Given the description of an element on the screen output the (x, y) to click on. 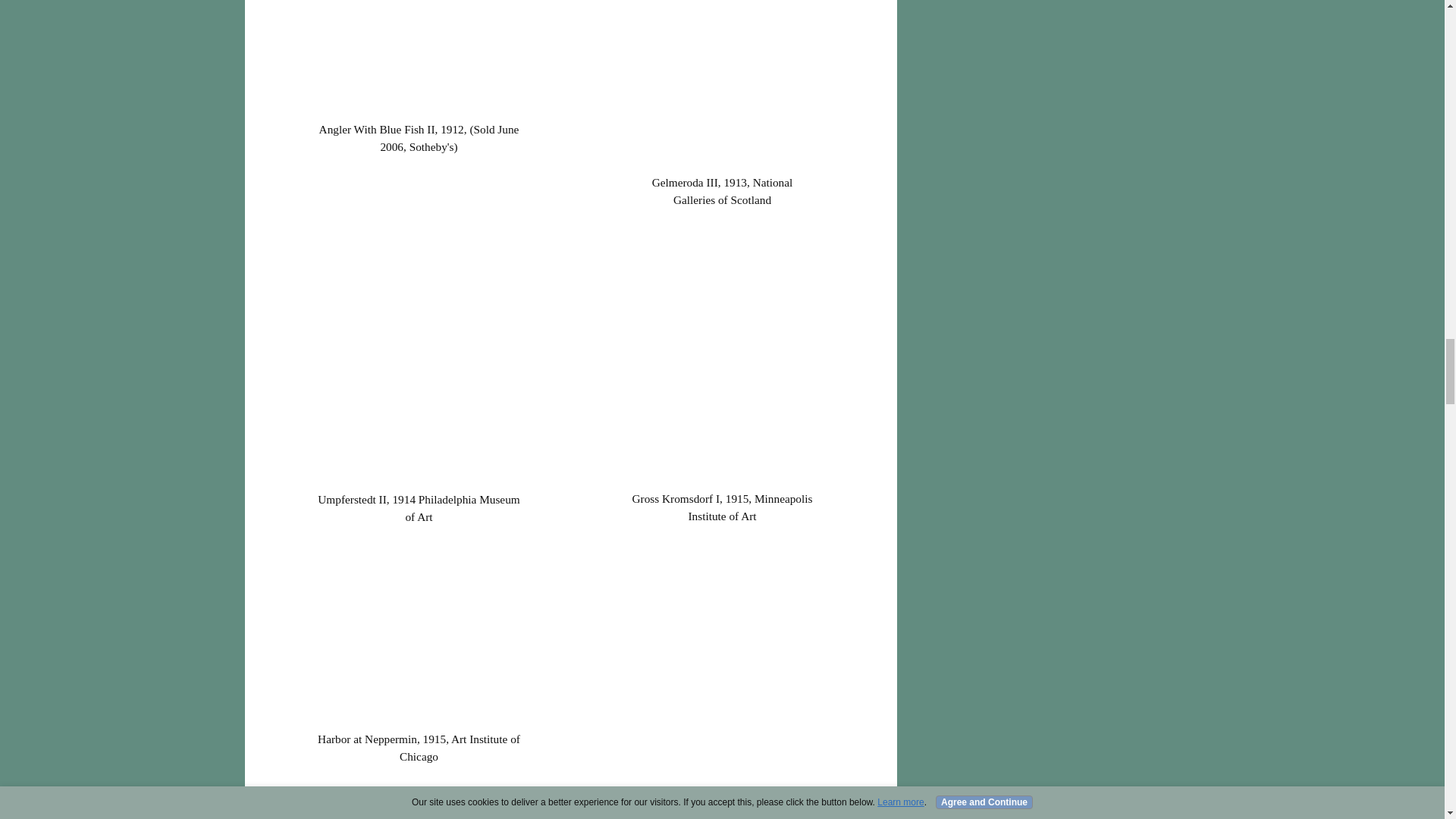
Lyonel Feininger, Angler With Blue Fish II, 1912 (418, 57)
Lyonel Feininger, Harbor at Neppermin, 1915 (418, 634)
Lyonel Feininger, Gelmeroda III, 1913 (721, 84)
